Given the description of an element on the screen output the (x, y) to click on. 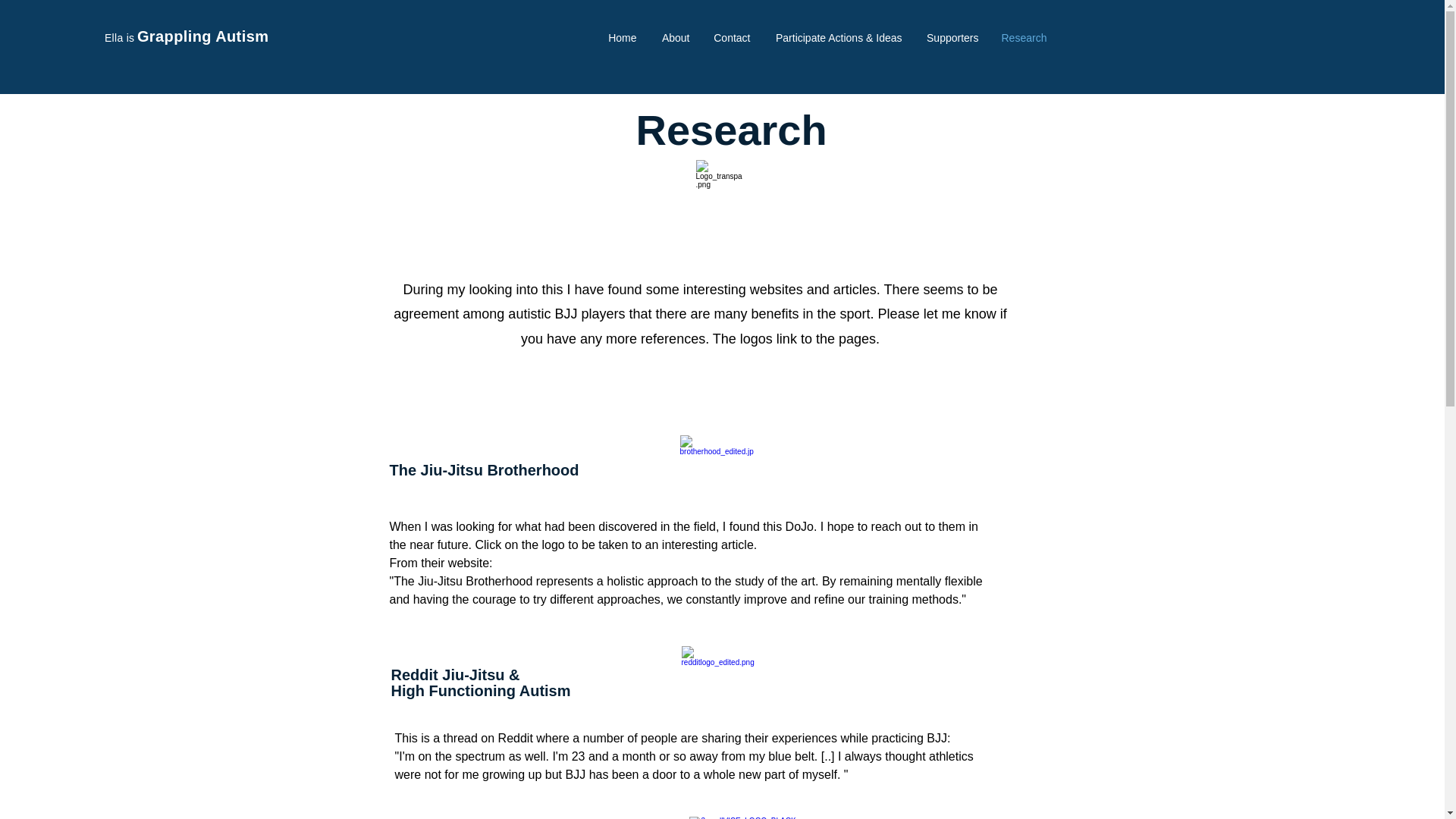
Supporters (951, 37)
Research (1023, 37)
Grappling  (175, 36)
Contact (730, 37)
Ella is (118, 37)
